Given the description of an element on the screen output the (x, y) to click on. 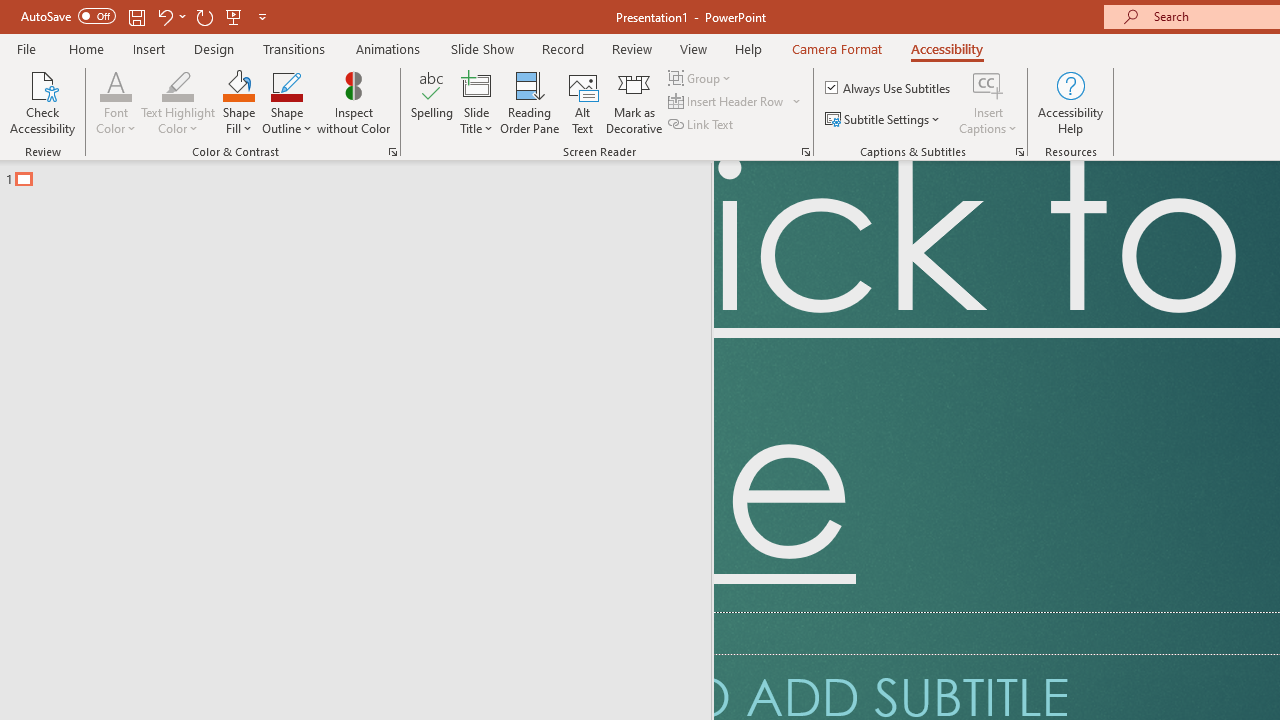
Font Color (116, 102)
Accessibility Help (1070, 102)
Record (562, 48)
System (10, 11)
Insert Captions (988, 84)
Spelling... (432, 102)
Slide Show (481, 48)
More Options (988, 121)
Redo (204, 15)
Check Accessibility (42, 102)
Font Color (116, 84)
Inspect without Color (353, 102)
Insert Captions (988, 102)
Home (86, 48)
Camera Format (836, 48)
